Given the description of an element on the screen output the (x, y) to click on. 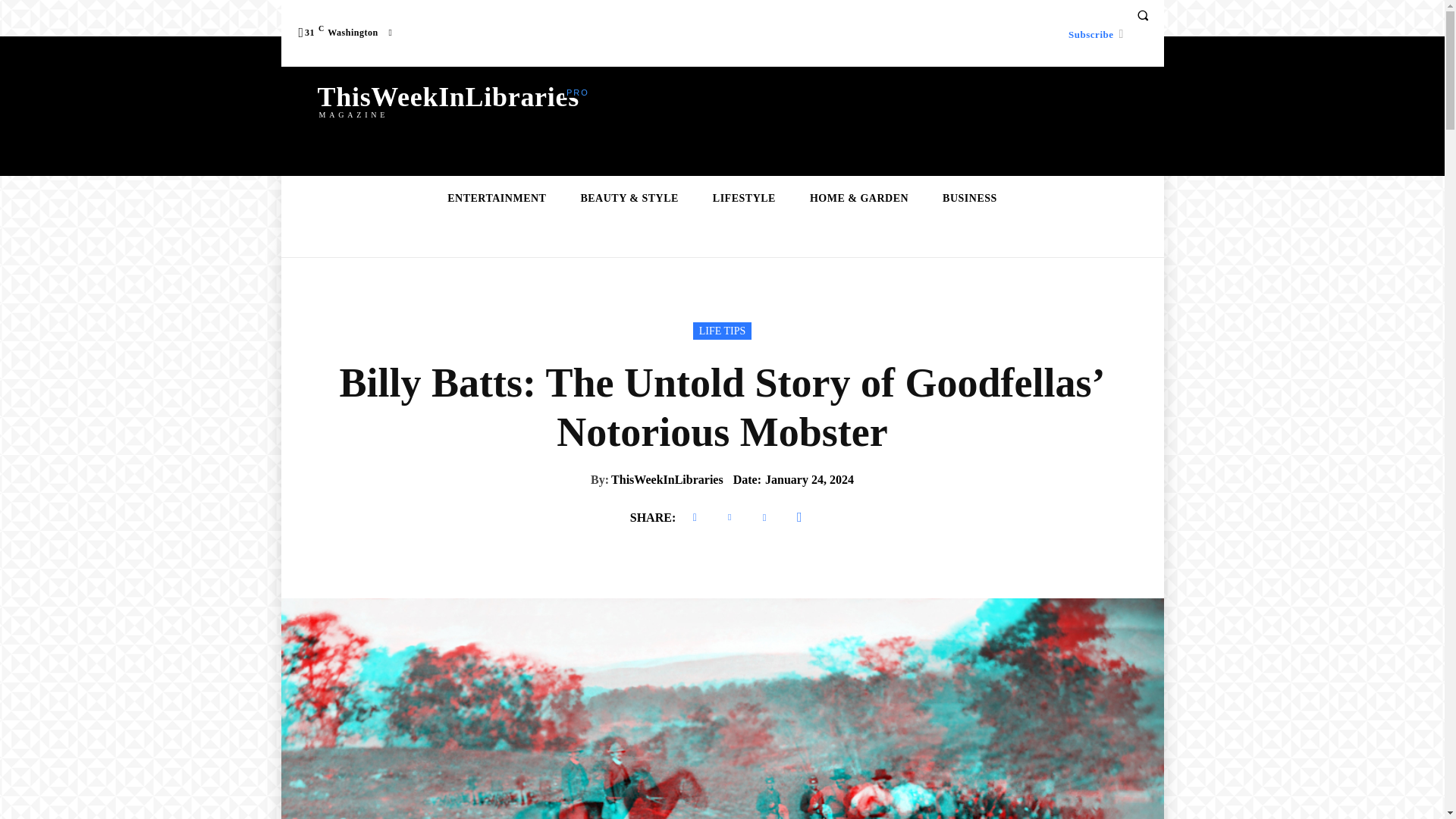
Twitter (729, 517)
Facebook (694, 517)
WhatsApp (798, 517)
Pinterest (763, 517)
